Given the description of an element on the screen output the (x, y) to click on. 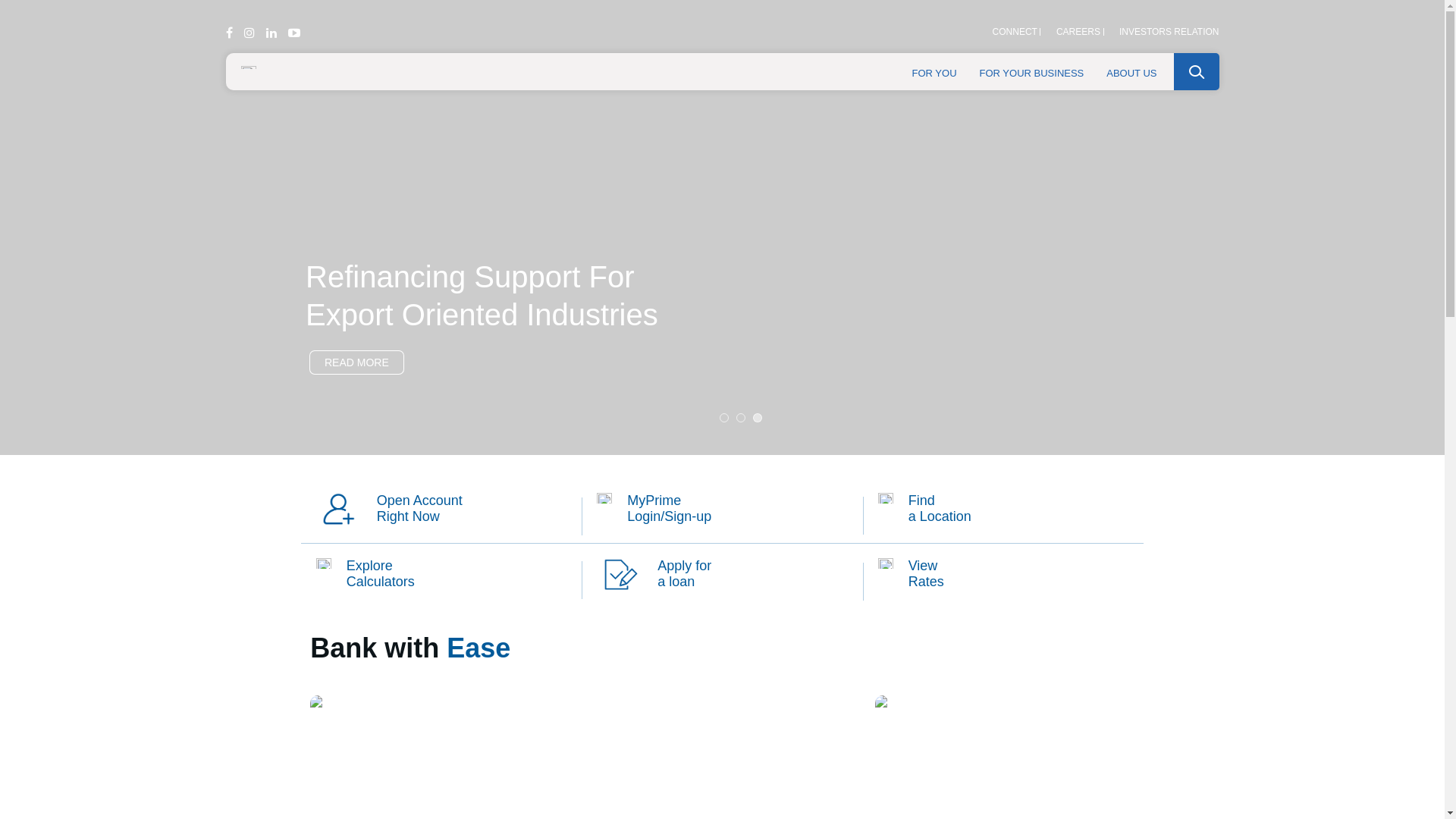
READ MORE Element type: text (356, 362)
FOR YOUR BUSINESS Element type: text (1031, 71)
CAREERS Element type: text (1078, 31)
CONNECT Element type: text (1014, 31)
LinkedIn Element type: text (270, 32)
INVESTORS RELATION Element type: text (1169, 31)
Youtube Element type: text (294, 32)
ABOUT US Element type: text (1131, 71)
FOR YOU Element type: text (934, 71)
Facebook Element type: text (228, 32)
Click to display the search engine Element type: text (1196, 71)
Instagram Element type: text (249, 32)
